Given the description of an element on the screen output the (x, y) to click on. 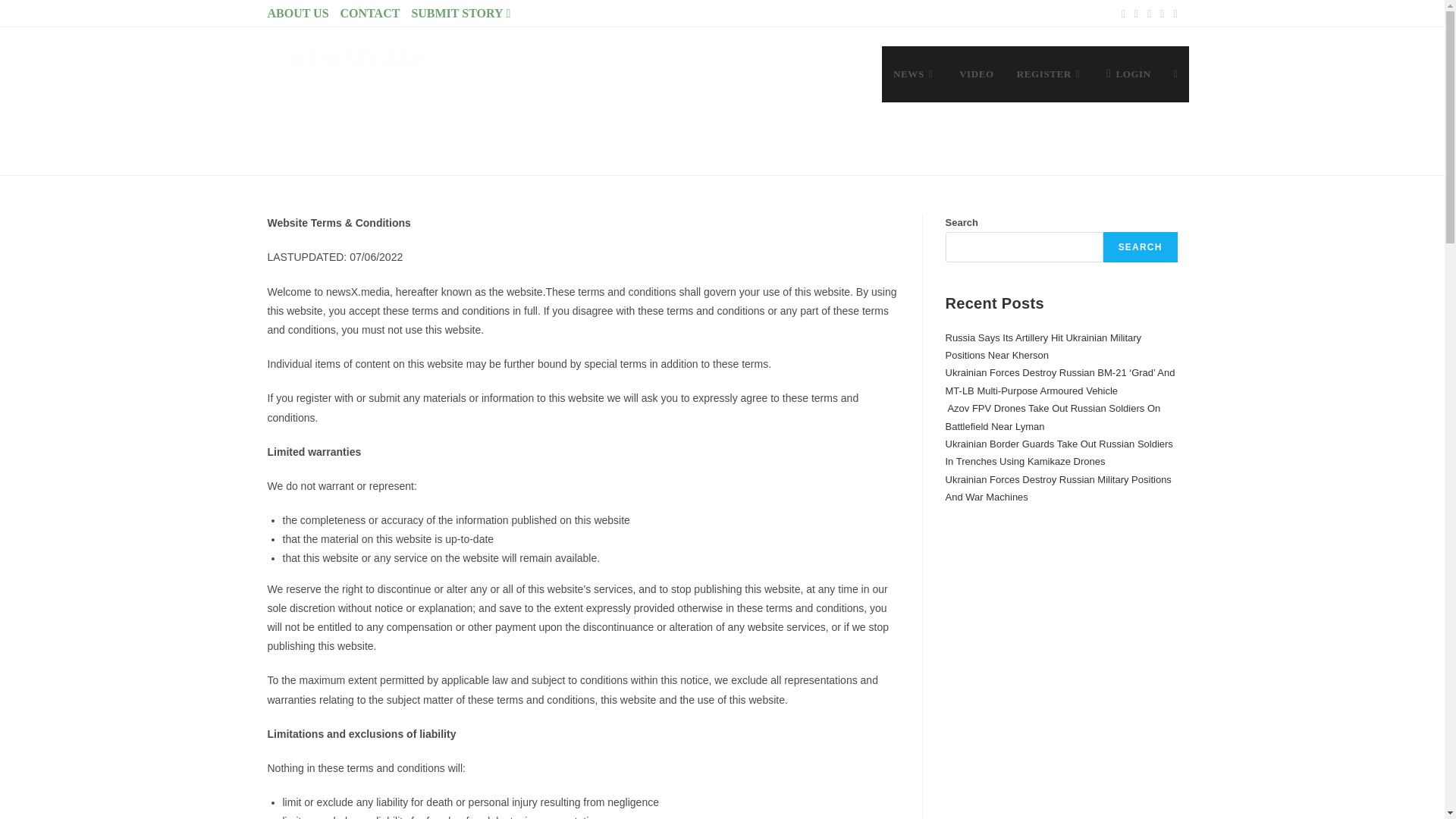
SUBMIT STORY (461, 12)
REGISTER (1050, 73)
VIDEO (976, 73)
LOGIN (1127, 73)
NEWS (914, 73)
ABOUT US (297, 12)
CONTACT (370, 12)
